Given the description of an element on the screen output the (x, y) to click on. 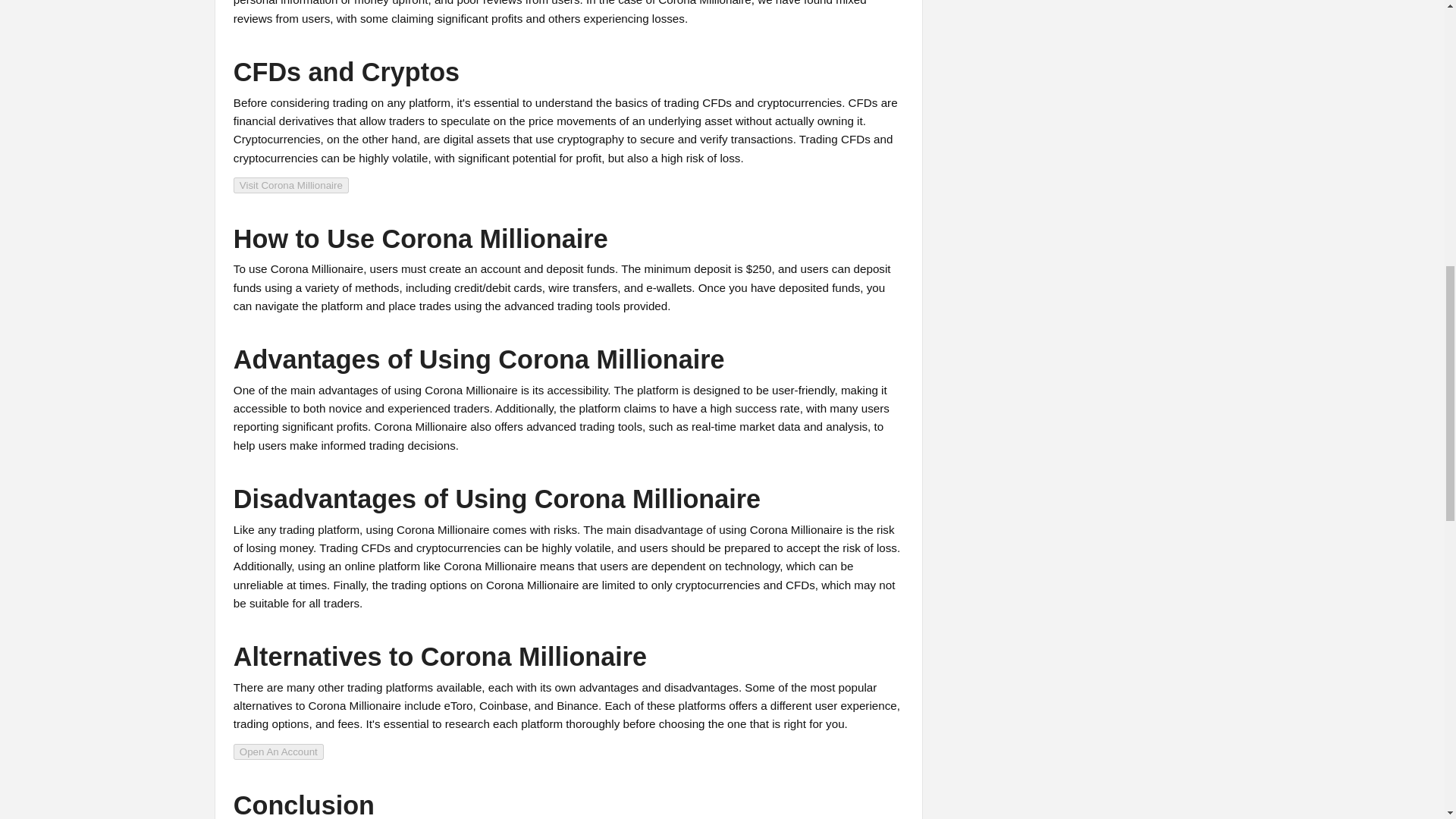
Visit Corona Millionaire (290, 185)
Open An Account (277, 751)
Open An Account (277, 750)
Visit Corona Millionaire (290, 184)
